Given the description of an element on the screen output the (x, y) to click on. 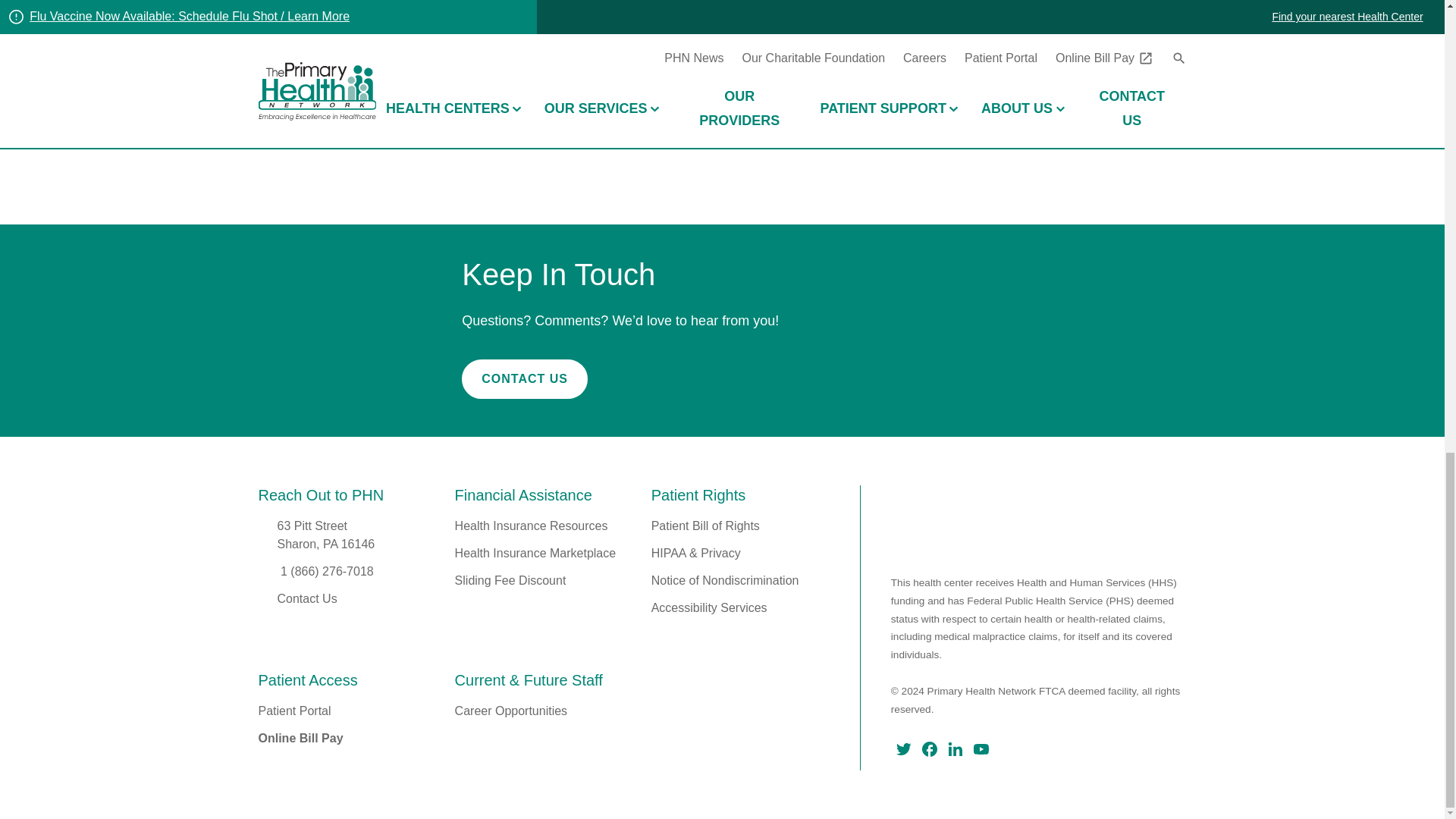
Youtube (981, 749)
Twitter (904, 749)
Linkedin (955, 749)
Facebook (929, 749)
